Given the description of an element on the screen output the (x, y) to click on. 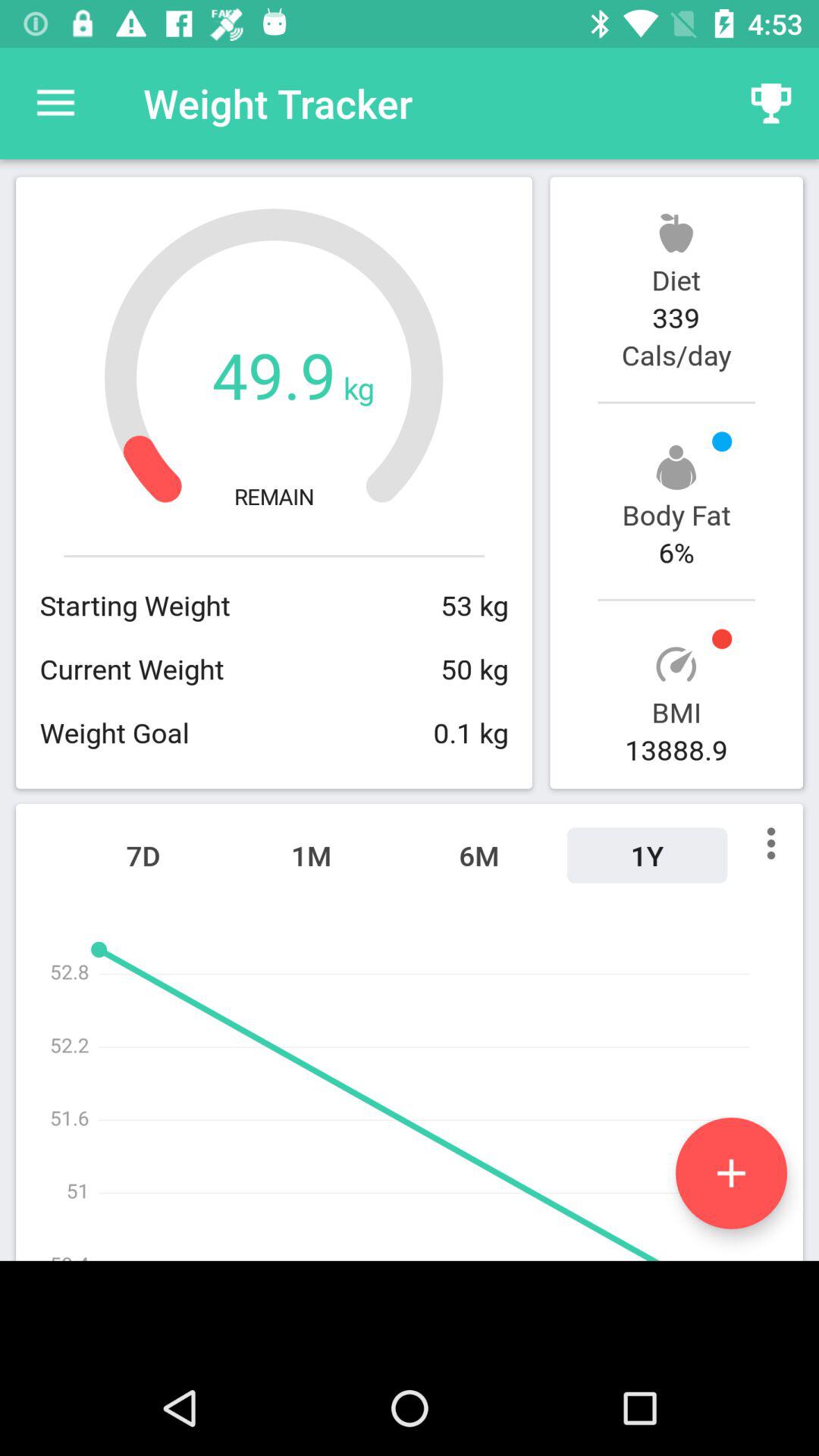
flip to the 1y (647, 855)
